Given the description of an element on the screen output the (x, y) to click on. 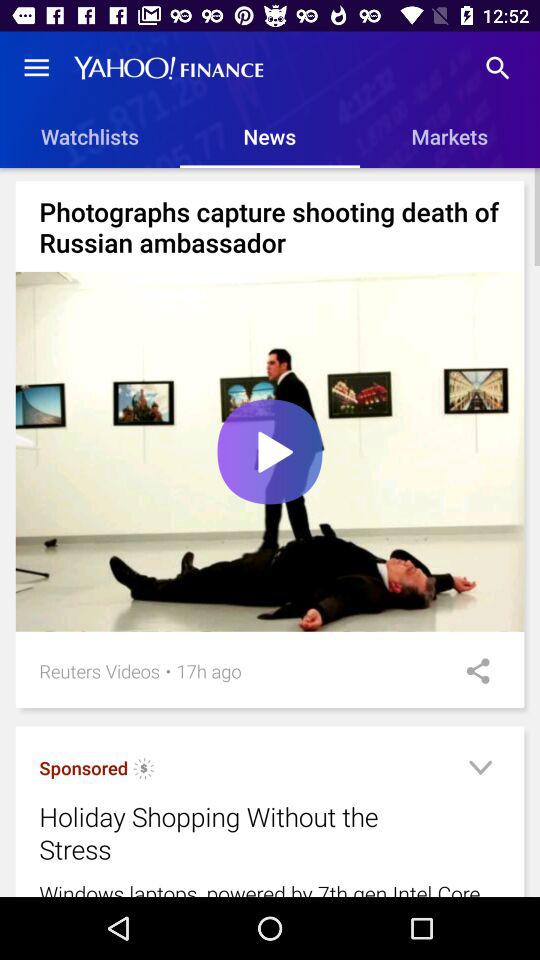
choose the sponsored item (83, 767)
